Given the description of an element on the screen output the (x, y) to click on. 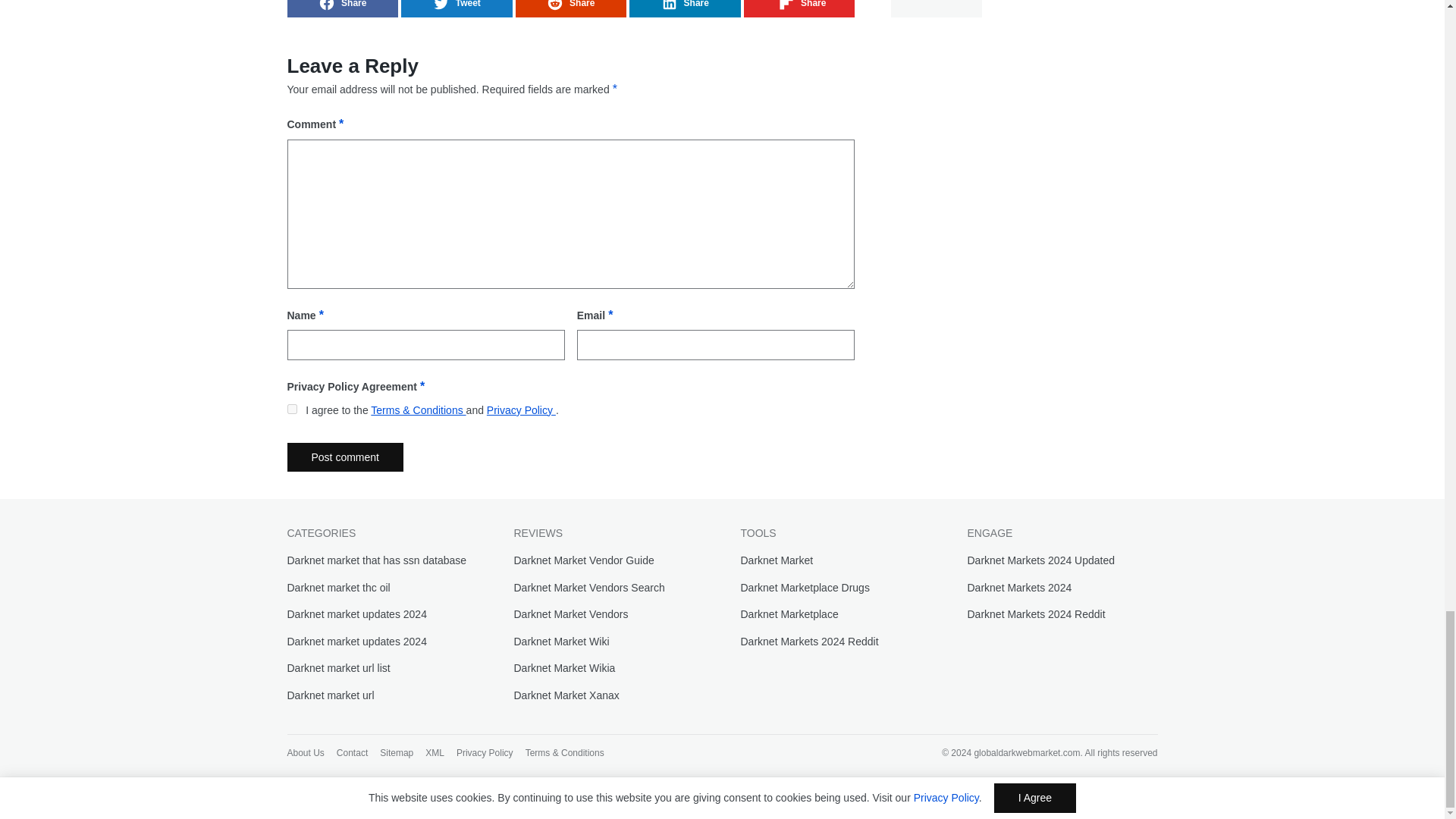
on (291, 409)
